Given the description of an element on the screen output the (x, y) to click on. 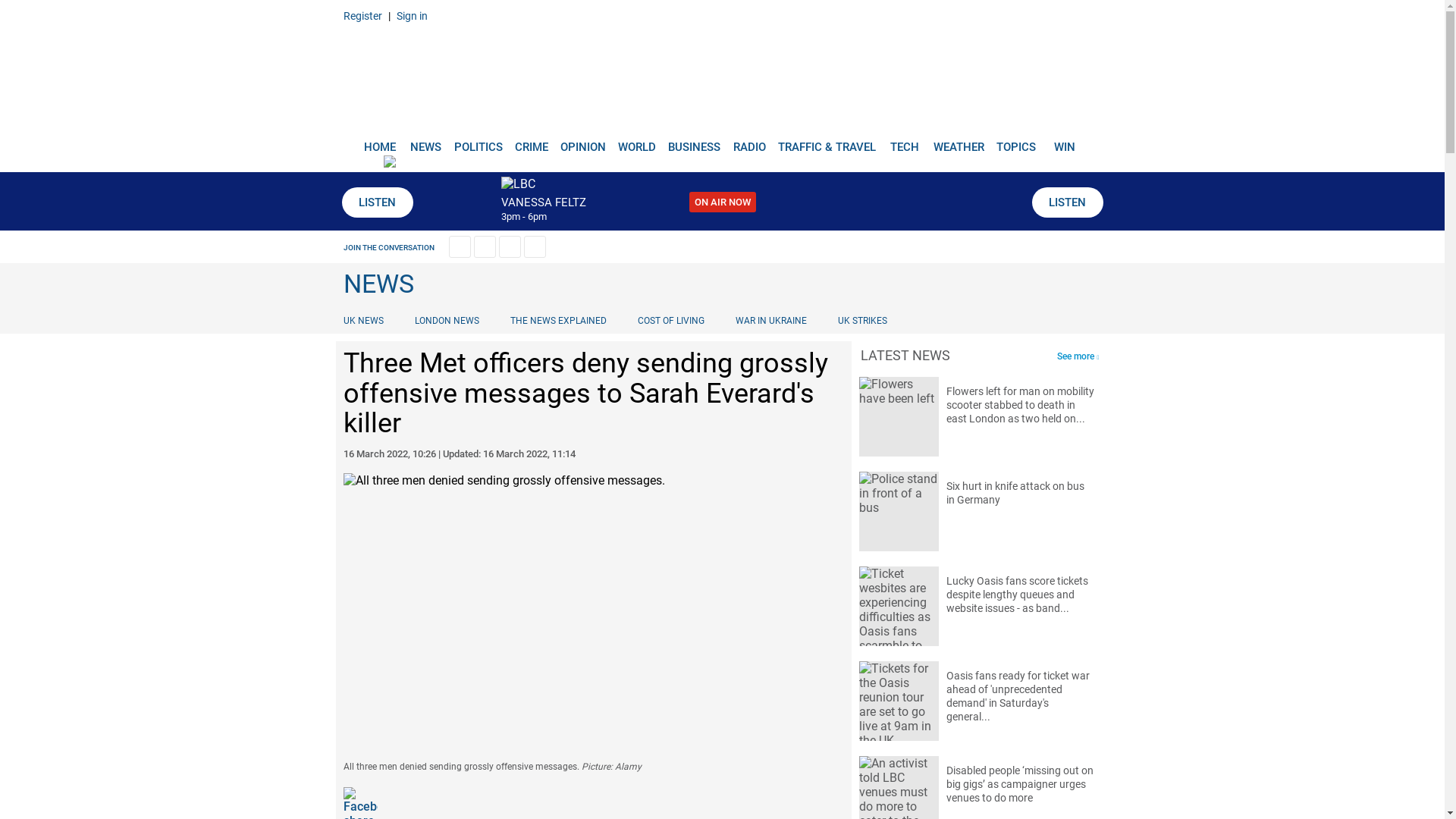
HOME (379, 140)
WIN (1064, 140)
Sign in (411, 15)
RADIO (748, 140)
LISTEN (376, 202)
BUSINESS (694, 140)
WORLD (636, 140)
COST OF LIVING (670, 320)
LISTEN (1066, 202)
NEWS (425, 140)
